Given the description of an element on the screen output the (x, y) to click on. 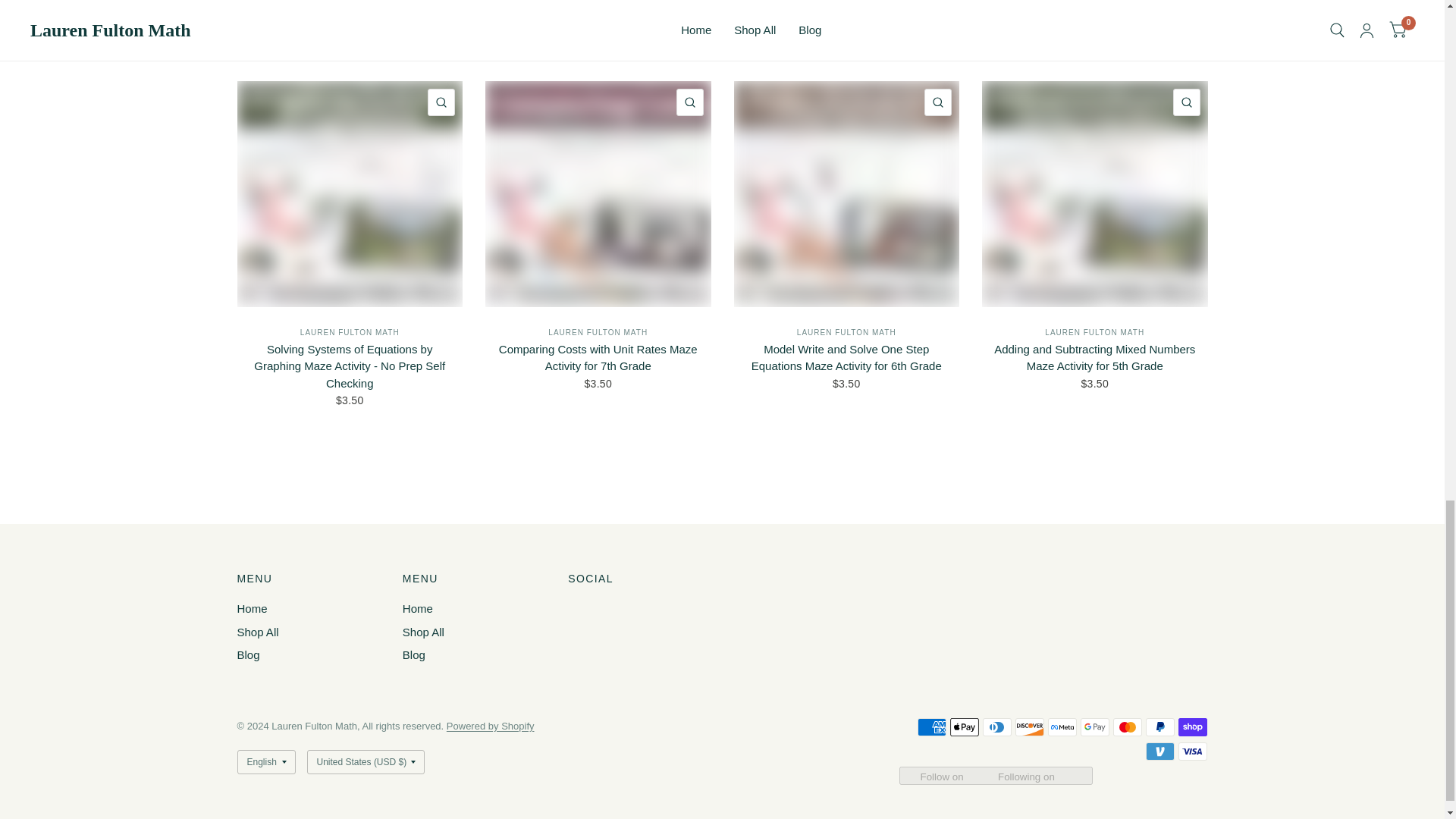
Comparing Costs with Unit Rates Maze Activity for 7th Grade (598, 358)
LAUREN FULTON MATH (1094, 332)
LAUREN FULTON MATH (348, 332)
Lauren Fulton Math (348, 332)
Lauren Fulton Math (597, 332)
Comparing Costs with Unit Rates Maze Activity for 7th Grade (597, 194)
Comparing Costs with Unit Rates Maze Activity for 7th Grade (598, 358)
